Given the description of an element on the screen output the (x, y) to click on. 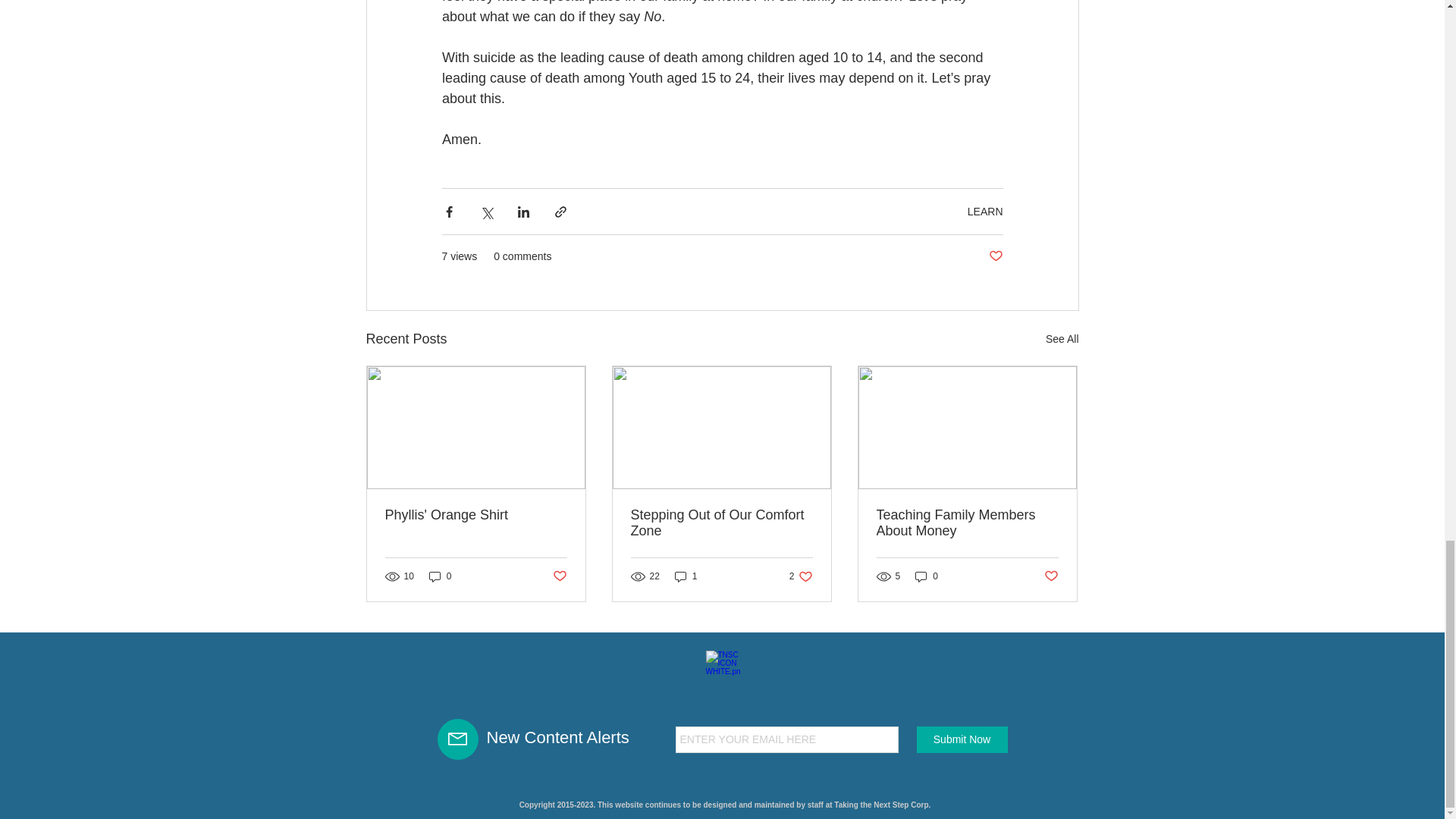
0 (440, 575)
See All (1061, 339)
Stepping Out of Our Comfort Zone (721, 522)
website continues to be designed and maintained by staff at (724, 804)
1 (685, 575)
Post not marked as liked (1050, 576)
Submit Now (961, 739)
0 (926, 575)
LEARN (985, 210)
Post not marked as liked (995, 256)
Taking the Next Step Corp. (882, 804)
Phyllis' Orange Shirt (476, 514)
Teaching Family Members About Money (967, 522)
Copyright 2015-2023. This  (567, 804)
Post not marked as liked (558, 576)
